Given the description of an element on the screen output the (x, y) to click on. 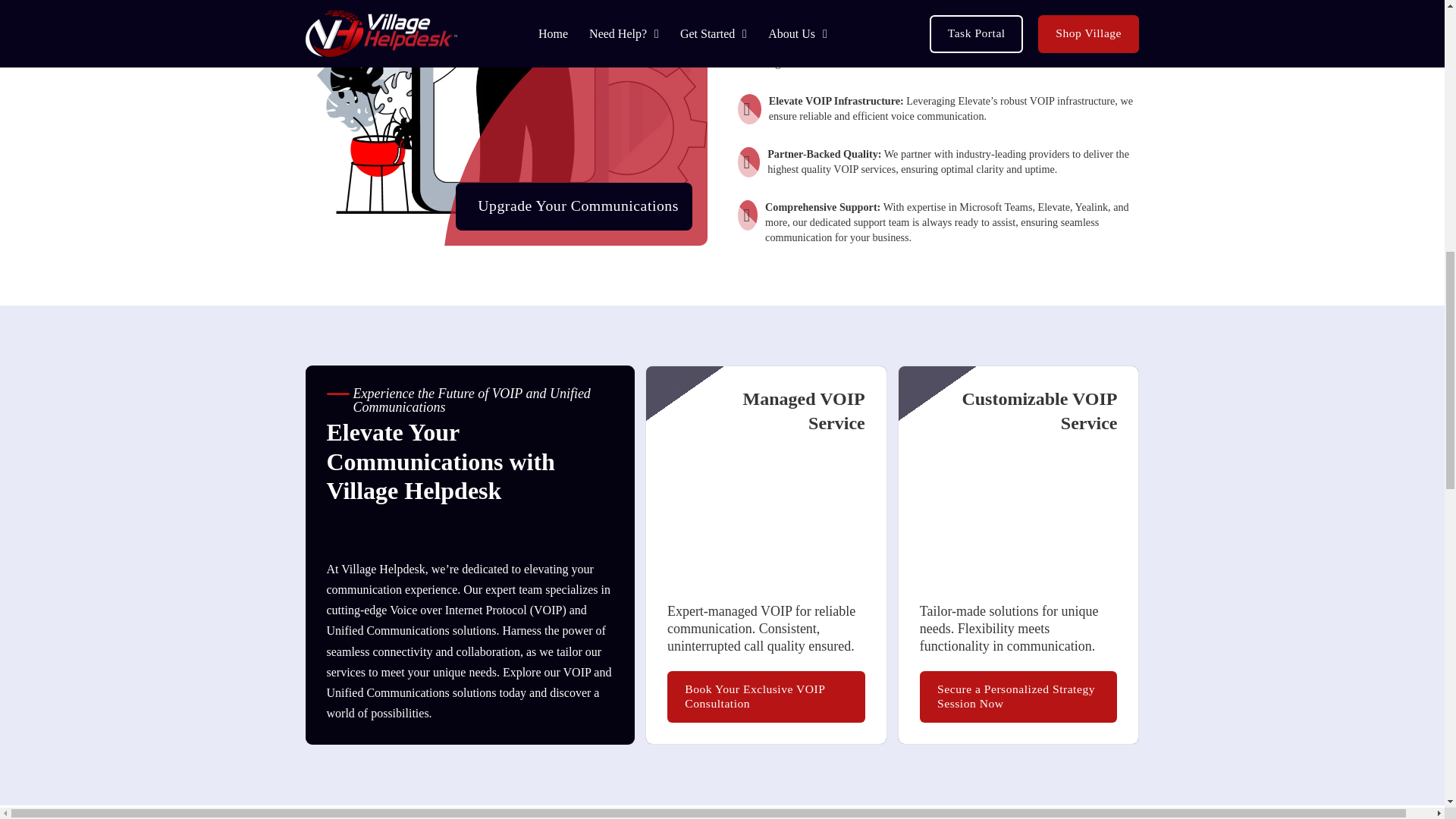
Upgrade Your Communications (574, 206)
Book Your Exclusive VOIP Consultation (765, 696)
Secure a Personalized Strategy Session Now (1019, 696)
